Given the description of an element on the screen output the (x, y) to click on. 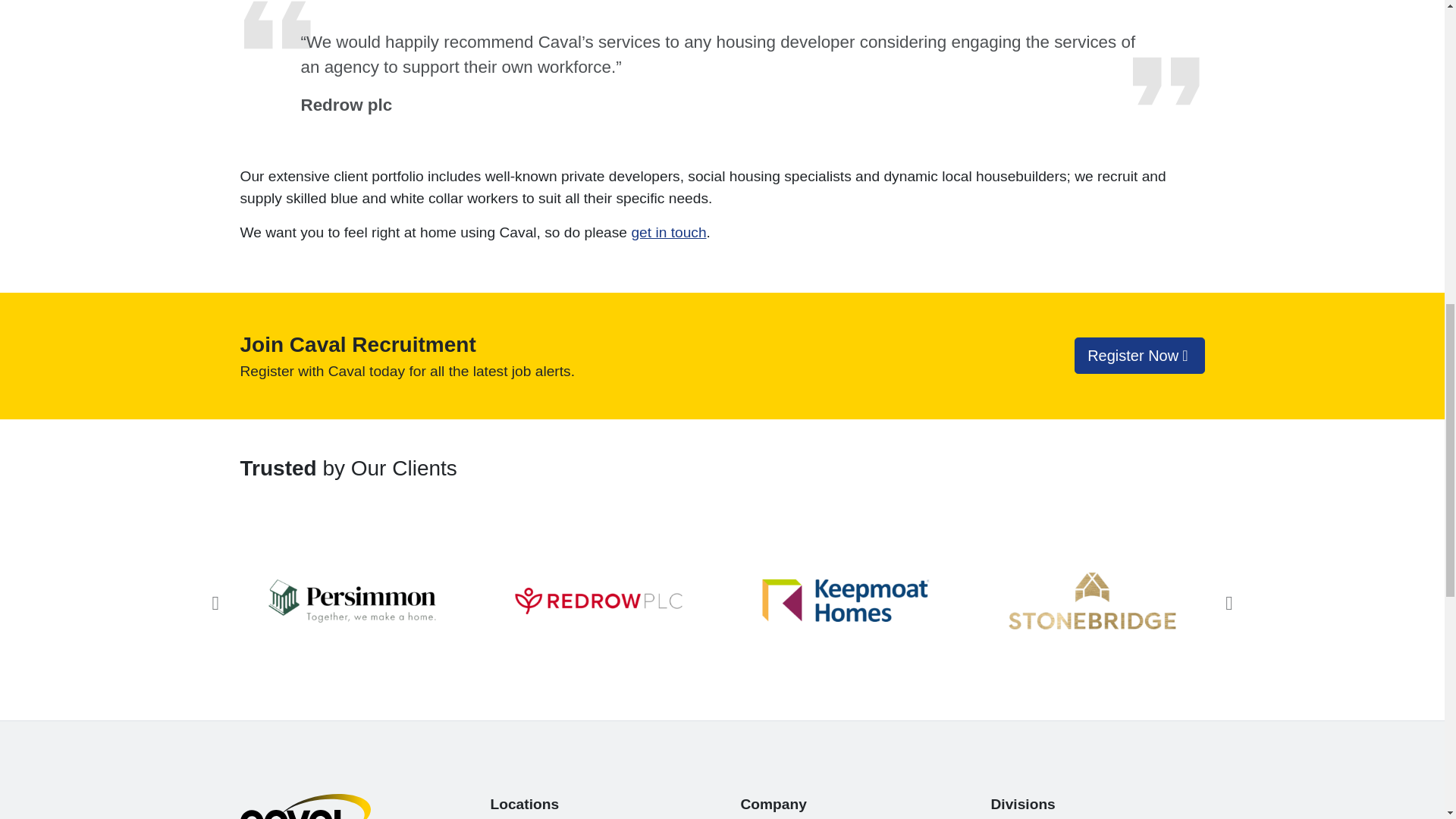
Register Now (1139, 355)
get in touch (668, 232)
